Given the description of an element on the screen output the (x, y) to click on. 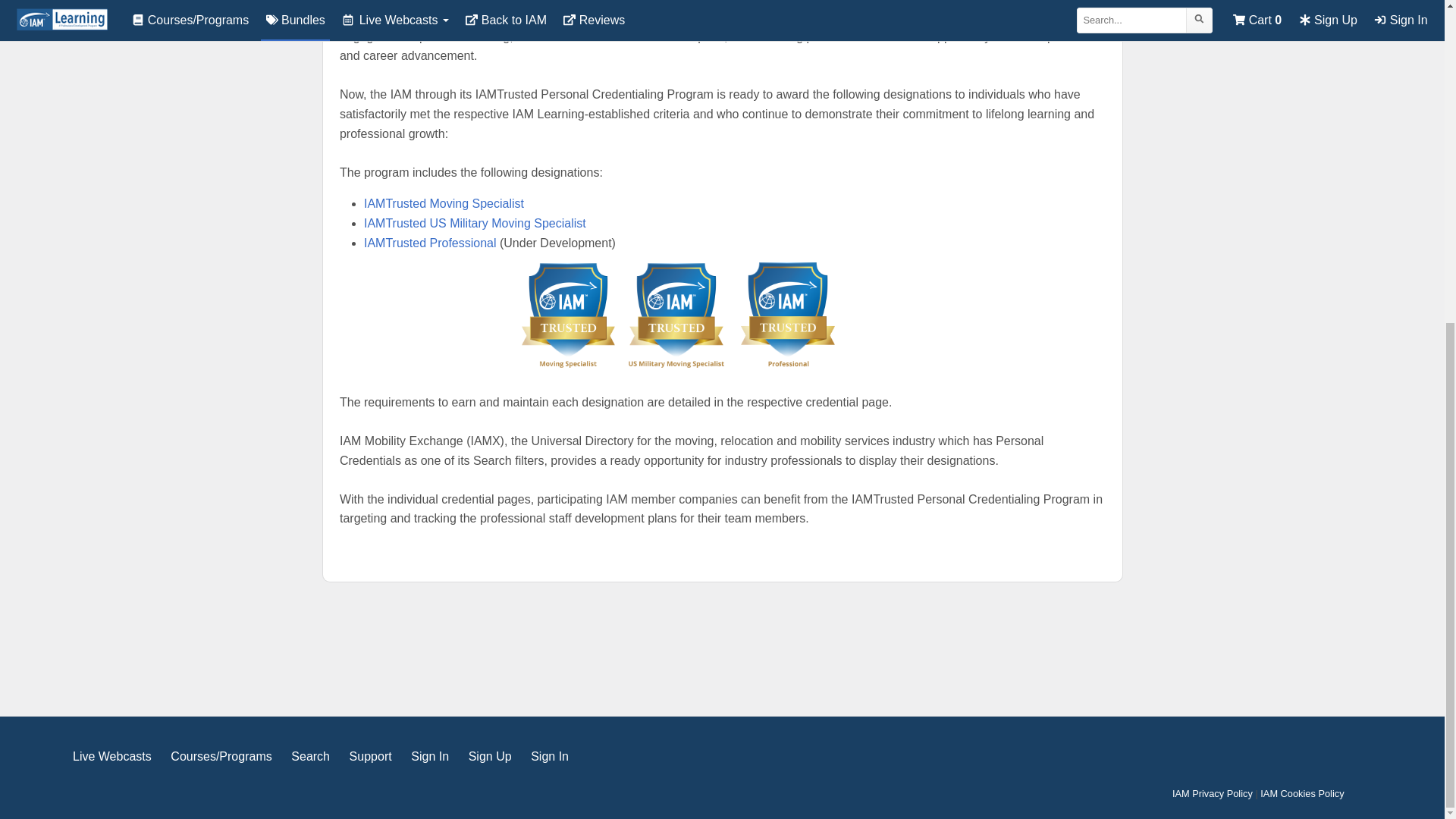
Support (370, 756)
Support (370, 756)
IAMTrusted Moving Specialist (444, 203)
Live Webcasts (111, 756)
IAMTrusted US Military Moving Specialist (475, 223)
IAMTrusted Professional  (431, 242)
Sign Up (490, 756)
Sign In (429, 756)
Search (310, 756)
Sign In (429, 756)
